Given the description of an element on the screen output the (x, y) to click on. 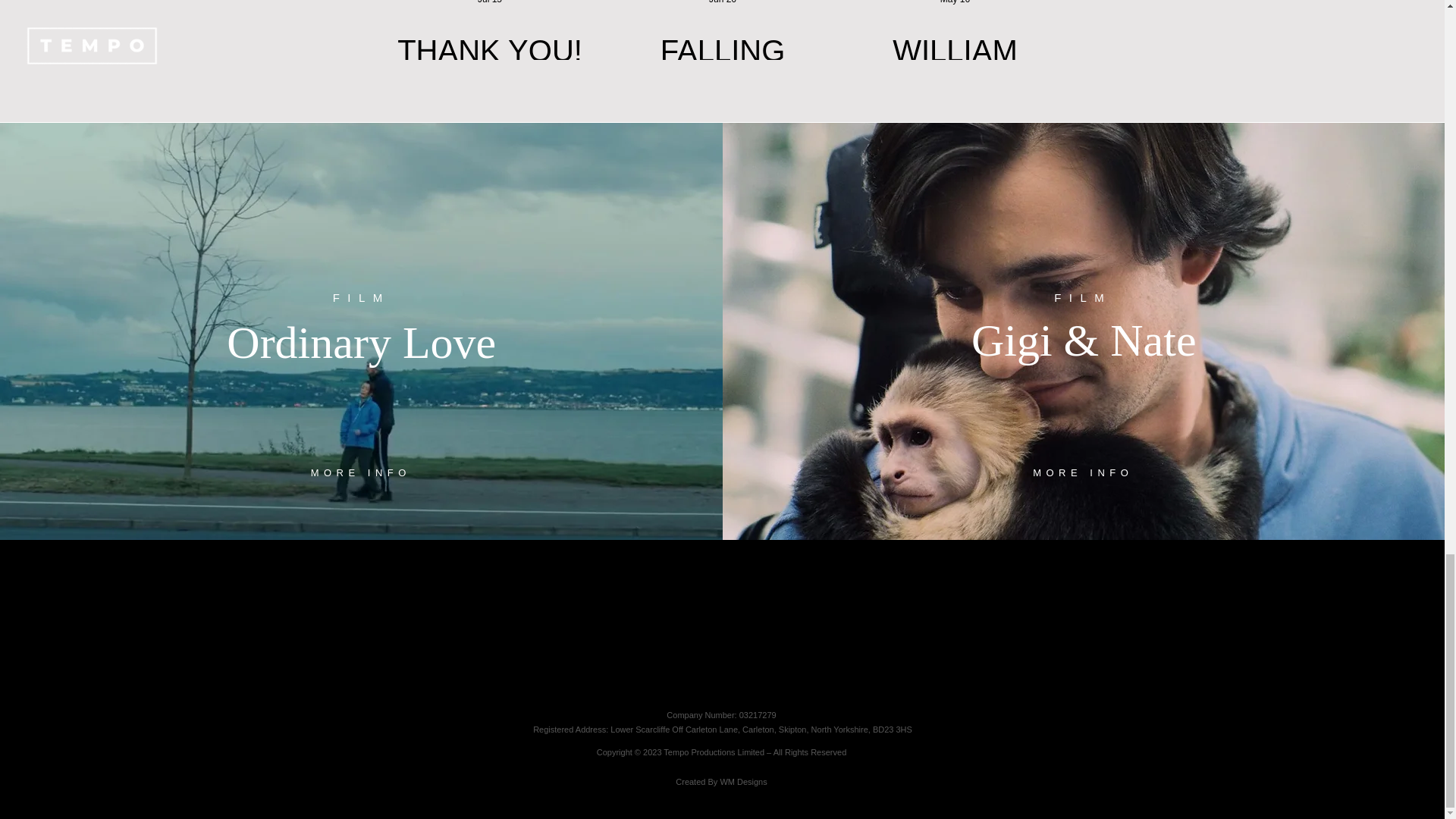
Jul 15 (489, 2)
May 16 (954, 2)
Jun 26 (722, 2)
